Given the description of an element on the screen output the (x, y) to click on. 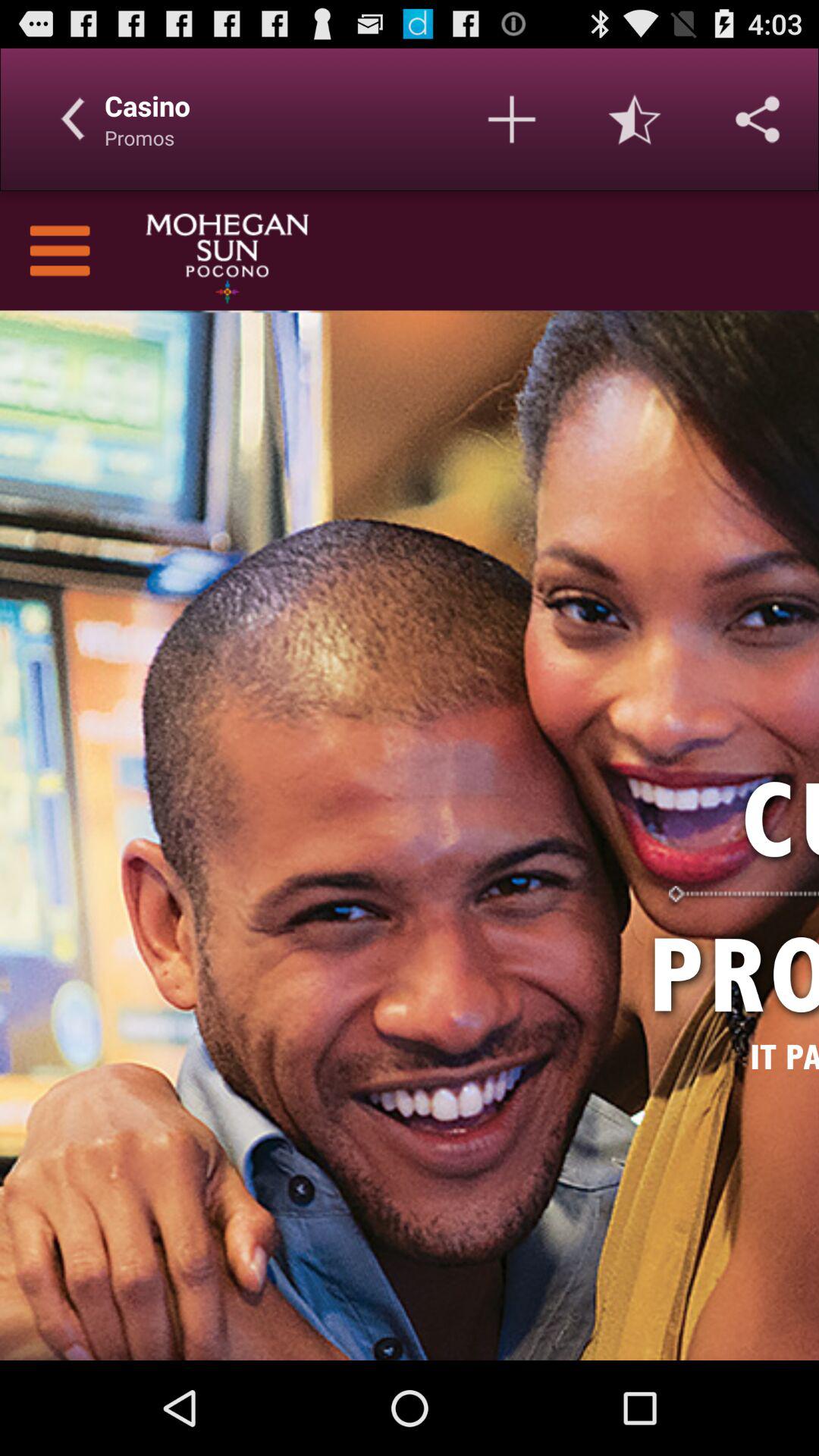
add additional profiles (511, 119)
